Given the description of an element on the screen output the (x, y) to click on. 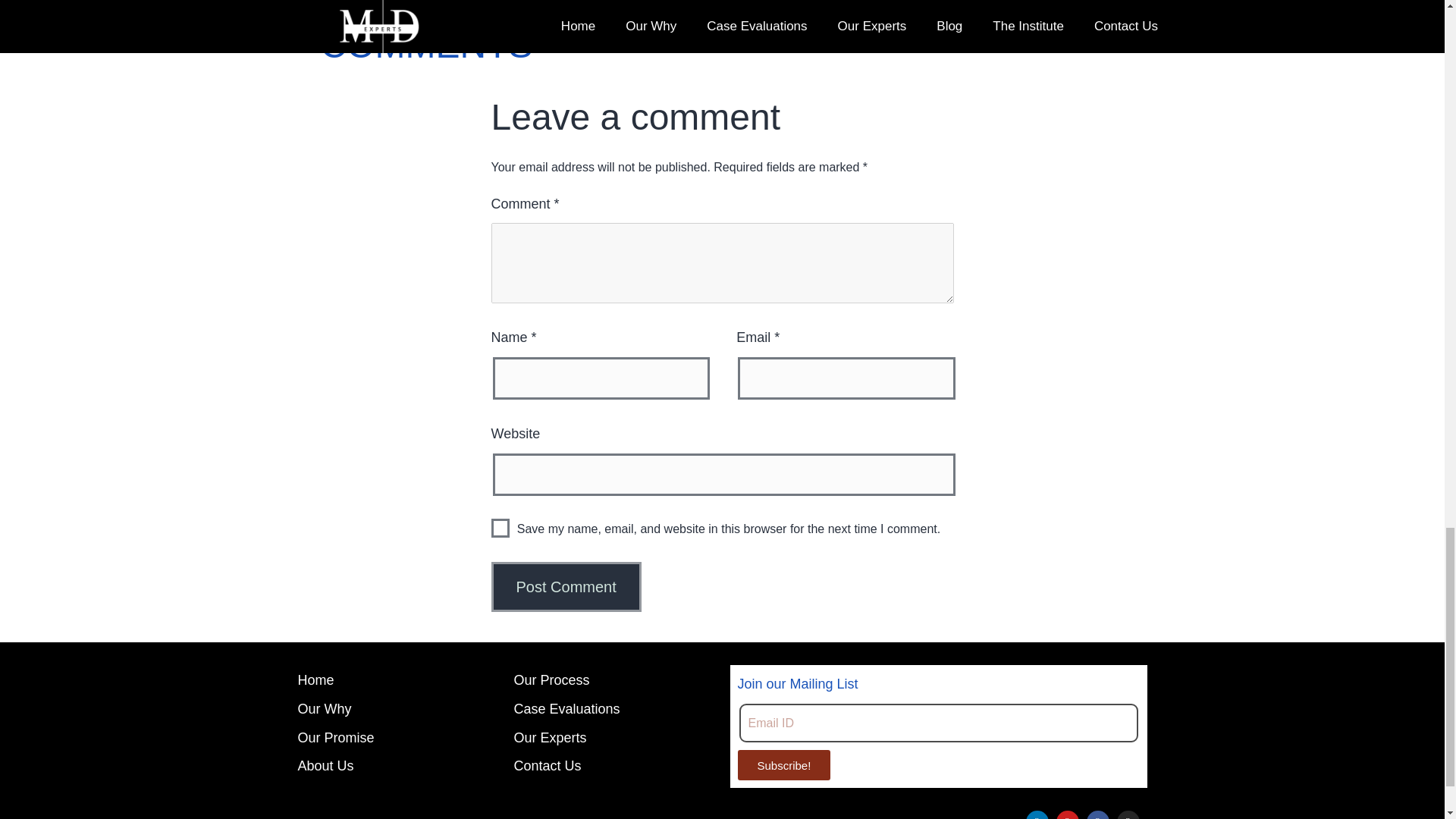
yes (500, 527)
Post Comment (567, 586)
Post Comment (567, 586)
